Given the description of an element on the screen output the (x, y) to click on. 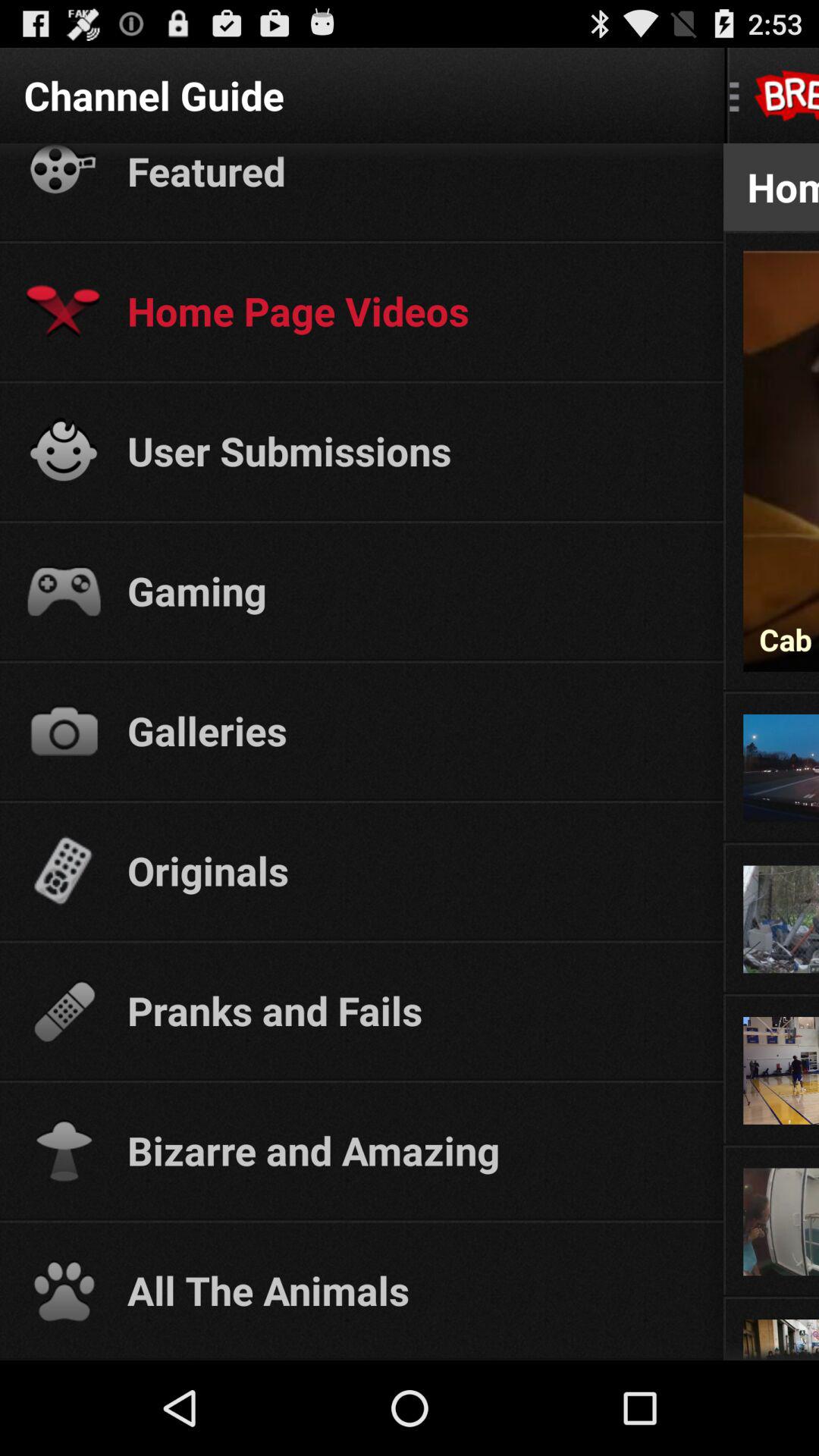
tap icon above the cab driver claims app (781, 251)
